Given the description of an element on the screen output the (x, y) to click on. 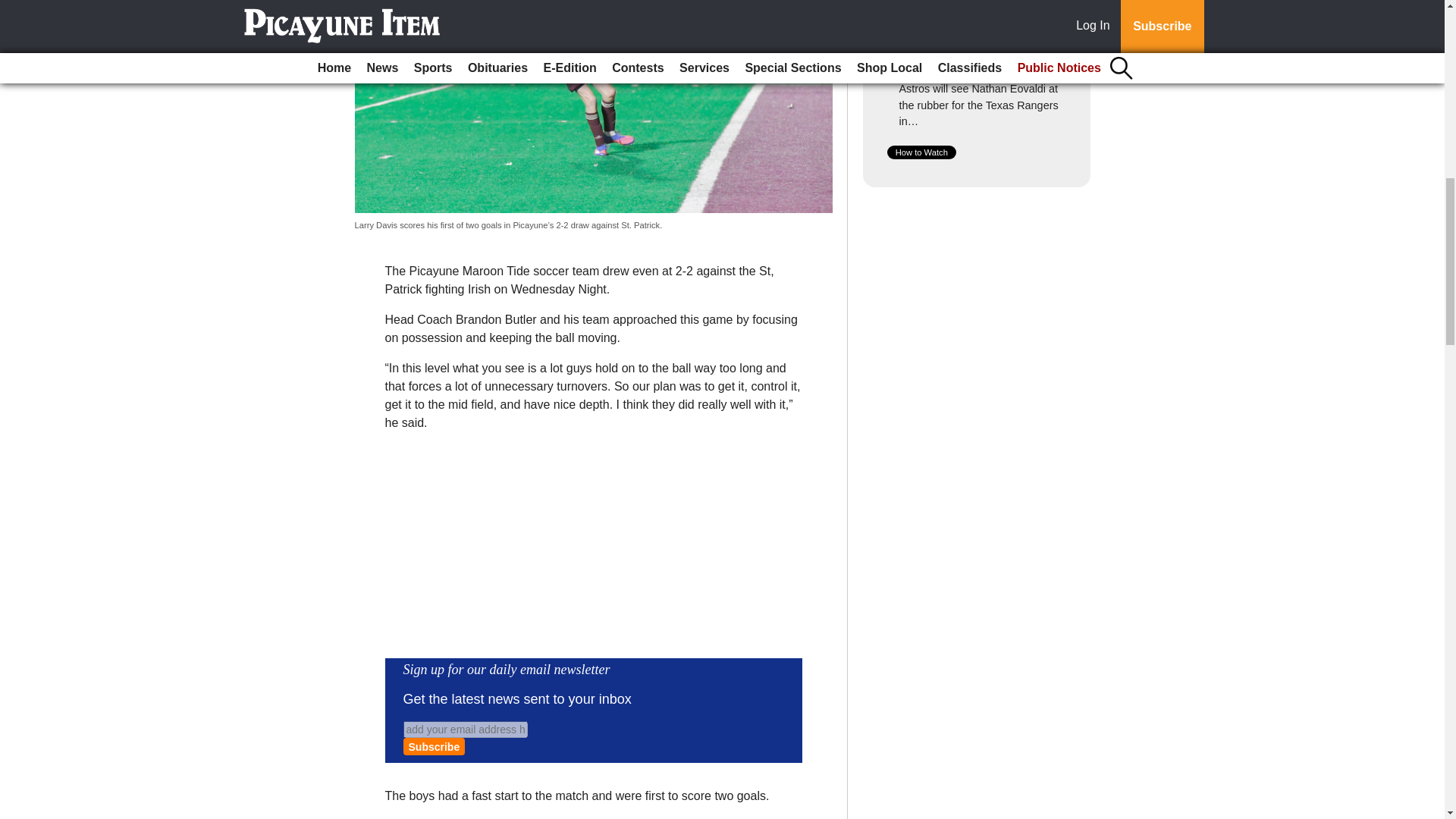
Subscribe (434, 746)
Subscribe (434, 746)
